Given the description of an element on the screen output the (x, y) to click on. 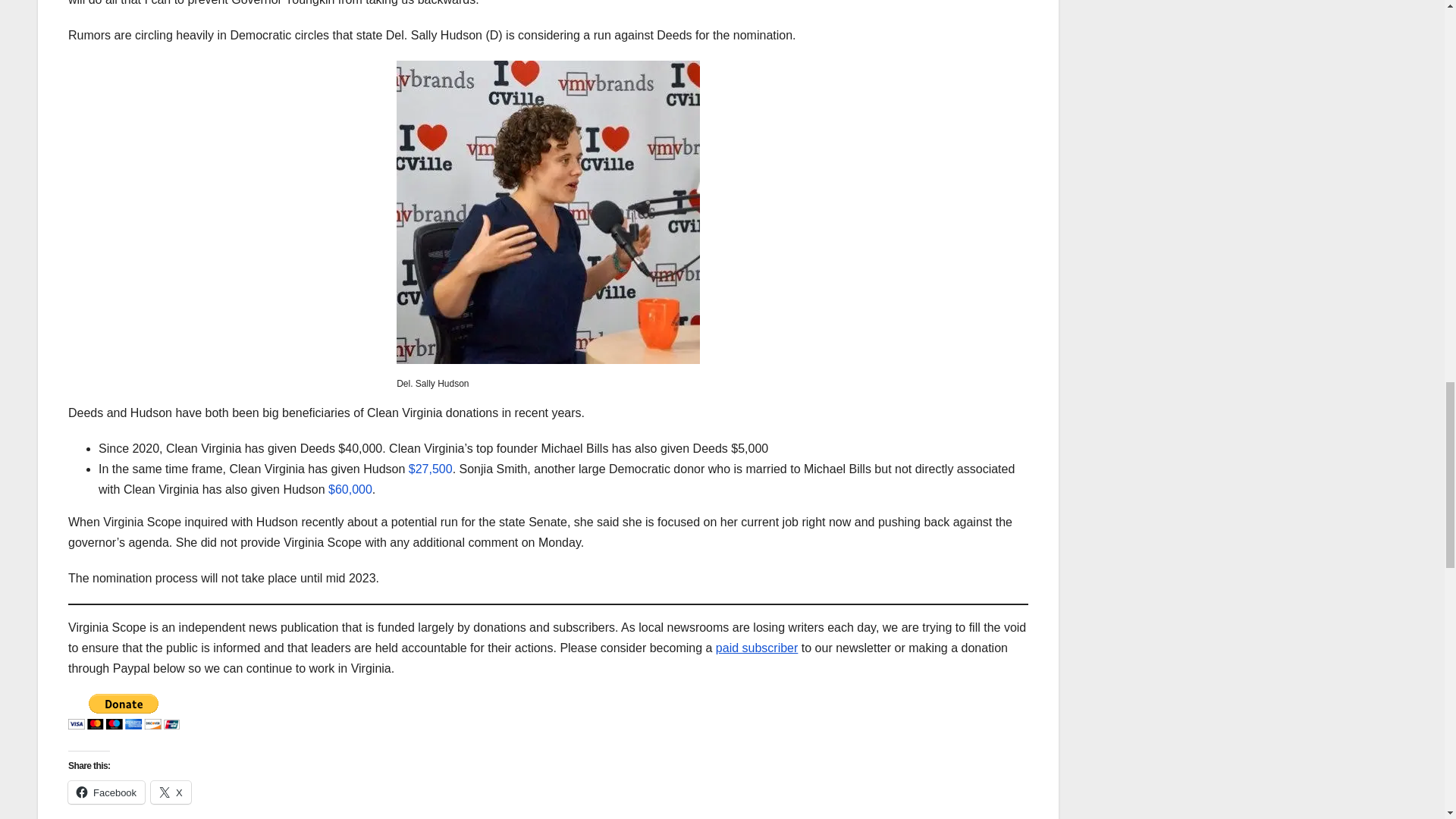
PayPal - The safer, easier way to pay online! (123, 711)
Facebook (106, 792)
X (170, 792)
Click to share on Facebook (106, 792)
paid subscriber (756, 647)
Click to share on X (170, 792)
